Given the description of an element on the screen output the (x, y) to click on. 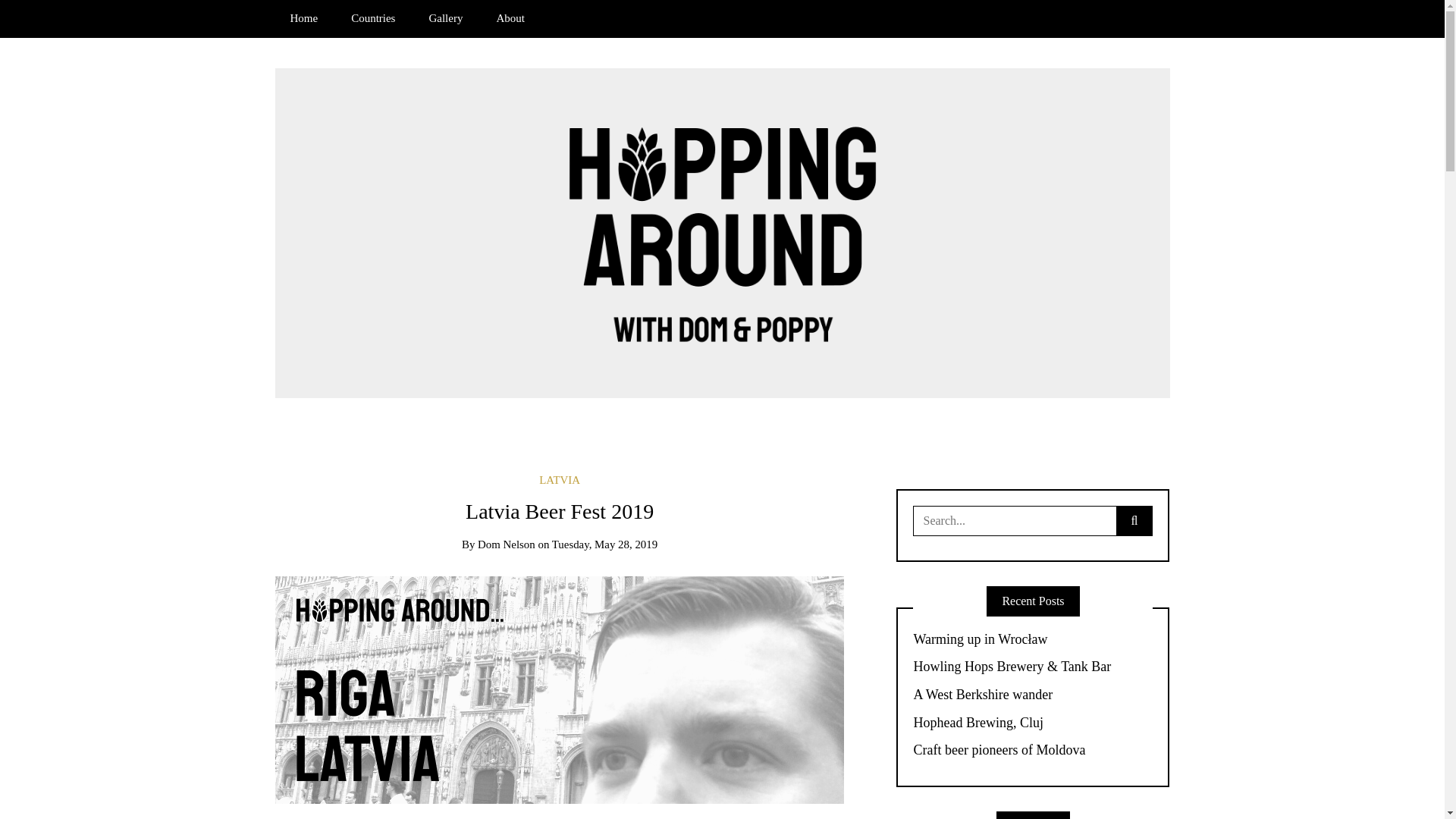
Gallery (445, 18)
About (509, 18)
LATVIA (558, 480)
Home (304, 18)
Posts by Dom Nelson (506, 544)
Countries (373, 18)
Dom Nelson (506, 544)
Tuesday, May 28, 2019 (604, 544)
Search (35, 16)
Permalink to: "Latvia Beer Fest 2019" (559, 688)
